Given the description of an element on the screen output the (x, y) to click on. 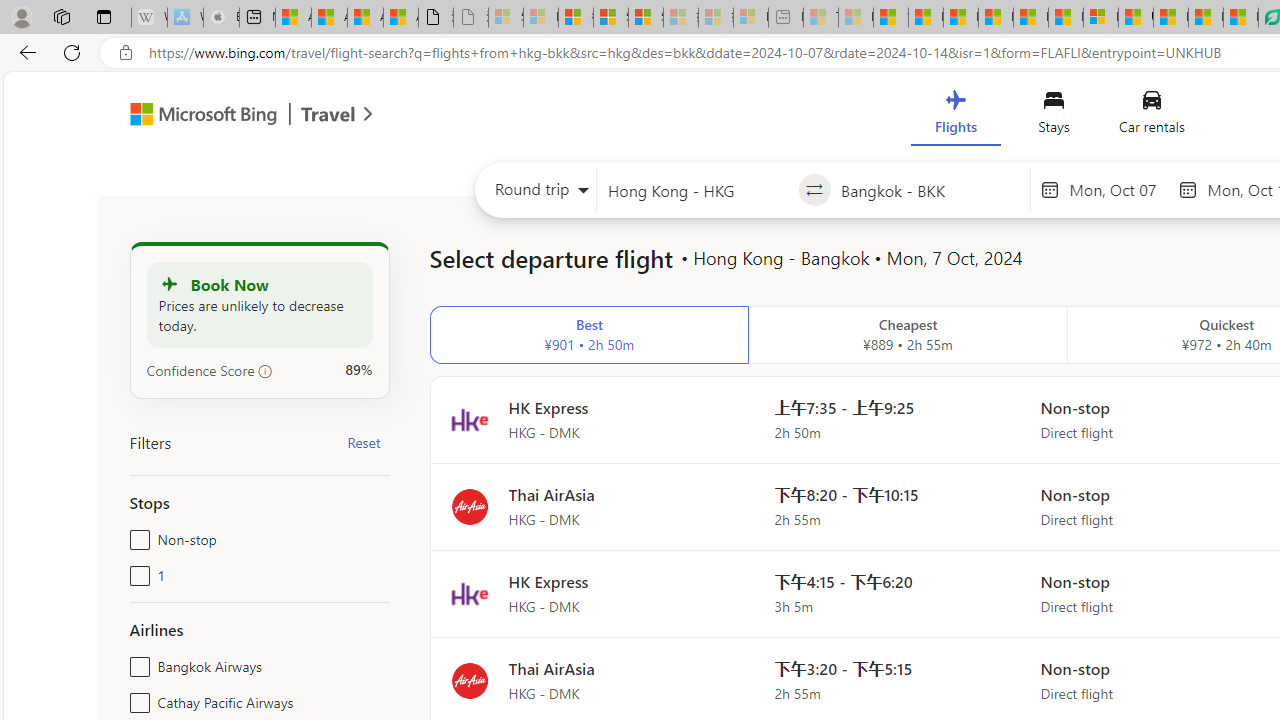
Aberdeen, Hong Kong SAR severe weather | Microsoft Weather (401, 17)
Foo BAR | Trusted Community Engagement and Contributions (1065, 17)
Microsoft Services Agreement - Sleeping (540, 17)
Going to? (930, 190)
Marine life - MSN - Sleeping (855, 17)
Travel (328, 116)
Info tooltip (265, 371)
Food and Drink - MSN (925, 17)
